Given the description of an element on the screen output the (x, y) to click on. 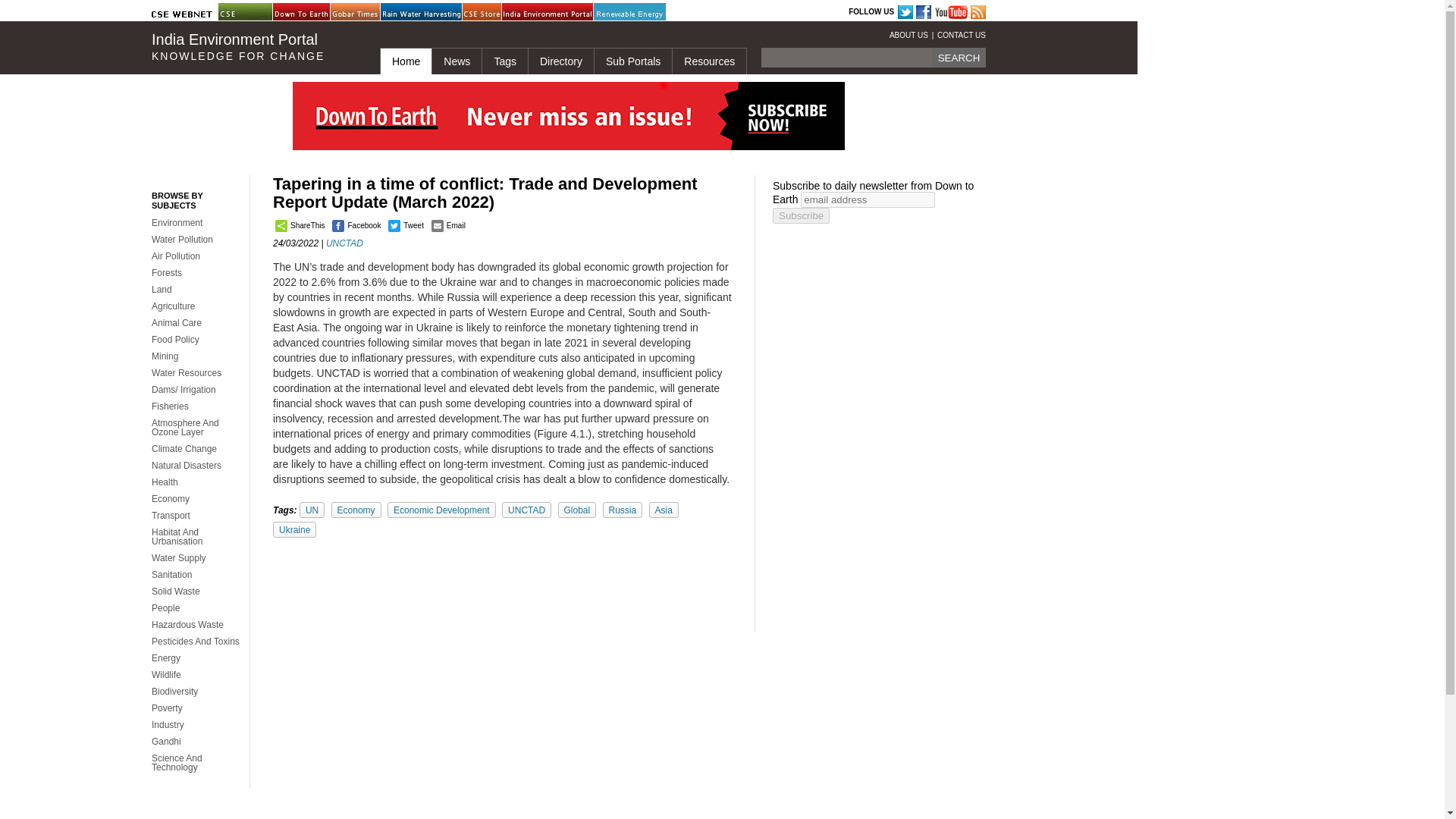
Resources (708, 60)
Sub Portals (632, 60)
Tags (504, 60)
Gobar Times (368, 11)
CSE Store (500, 11)
CSE (256, 11)
India Environment Portal (540, 11)
Renewable Energy (631, 11)
News (455, 60)
Directory (560, 60)
Rain Water Harvesting (418, 11)
Down to Earth (311, 11)
Subscribe (801, 215)
India Environment Portal KNOWLEDGE FOR CHANGE (253, 46)
Home (405, 60)
